Given the description of an element on the screen output the (x, y) to click on. 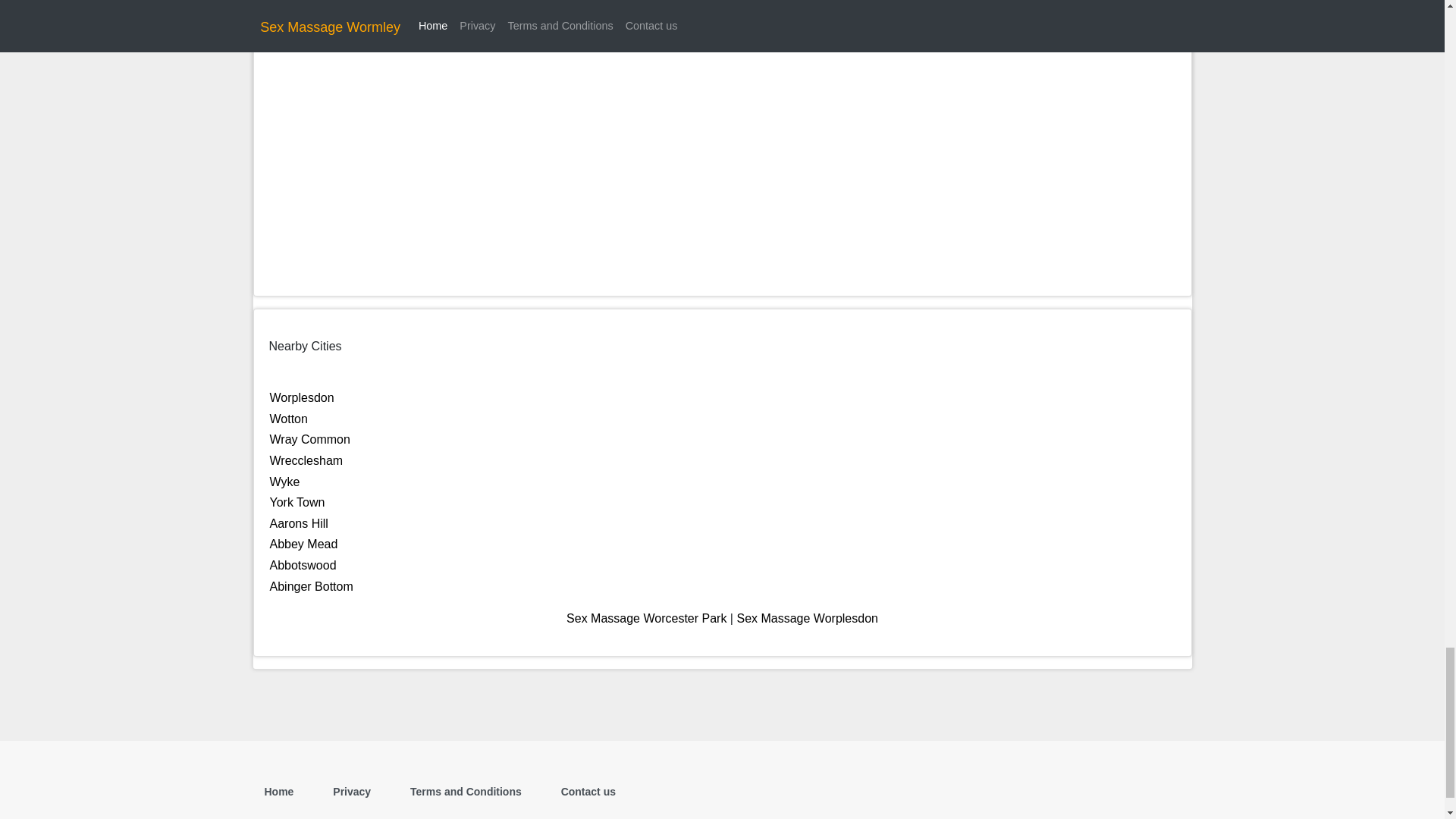
York Town (296, 502)
Worplesdon (301, 397)
Abbey Mead (303, 543)
Abinger Bottom (311, 585)
Wrecclesham (306, 460)
Sex Massage Worcester Park (646, 617)
Wotton (288, 418)
Wyke (284, 481)
Aarons Hill (299, 522)
Sex Massage Worplesdon (806, 617)
